Given the description of an element on the screen output the (x, y) to click on. 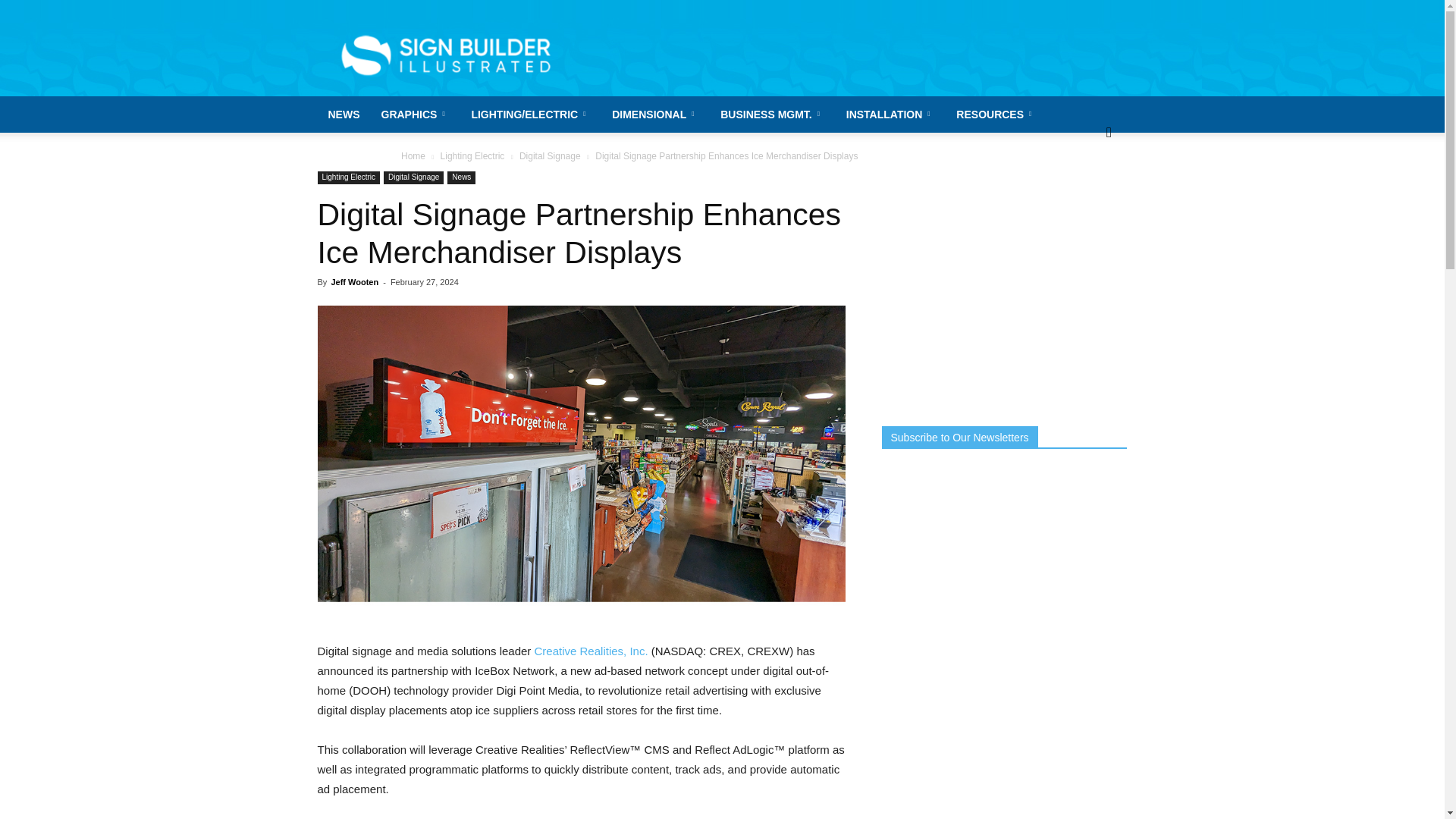
View all posts in Lighting Electric (473, 155)
3rd party ad content (850, 55)
Sign Builder Illustrated (445, 54)
View all posts in Digital Signage (551, 155)
